Given the description of an element on the screen output the (x, y) to click on. 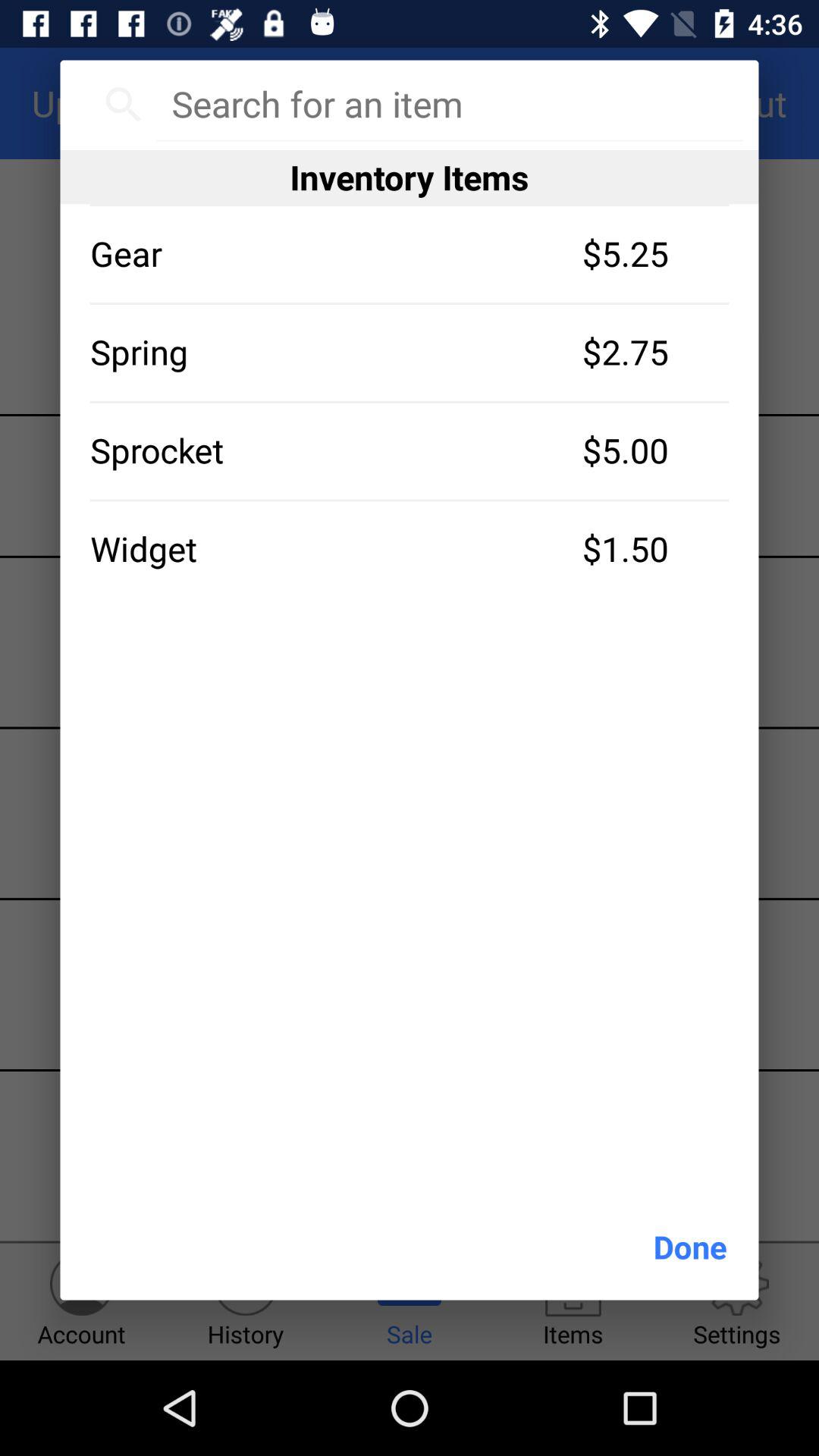
search inventory items (448, 103)
